Given the description of an element on the screen output the (x, y) to click on. 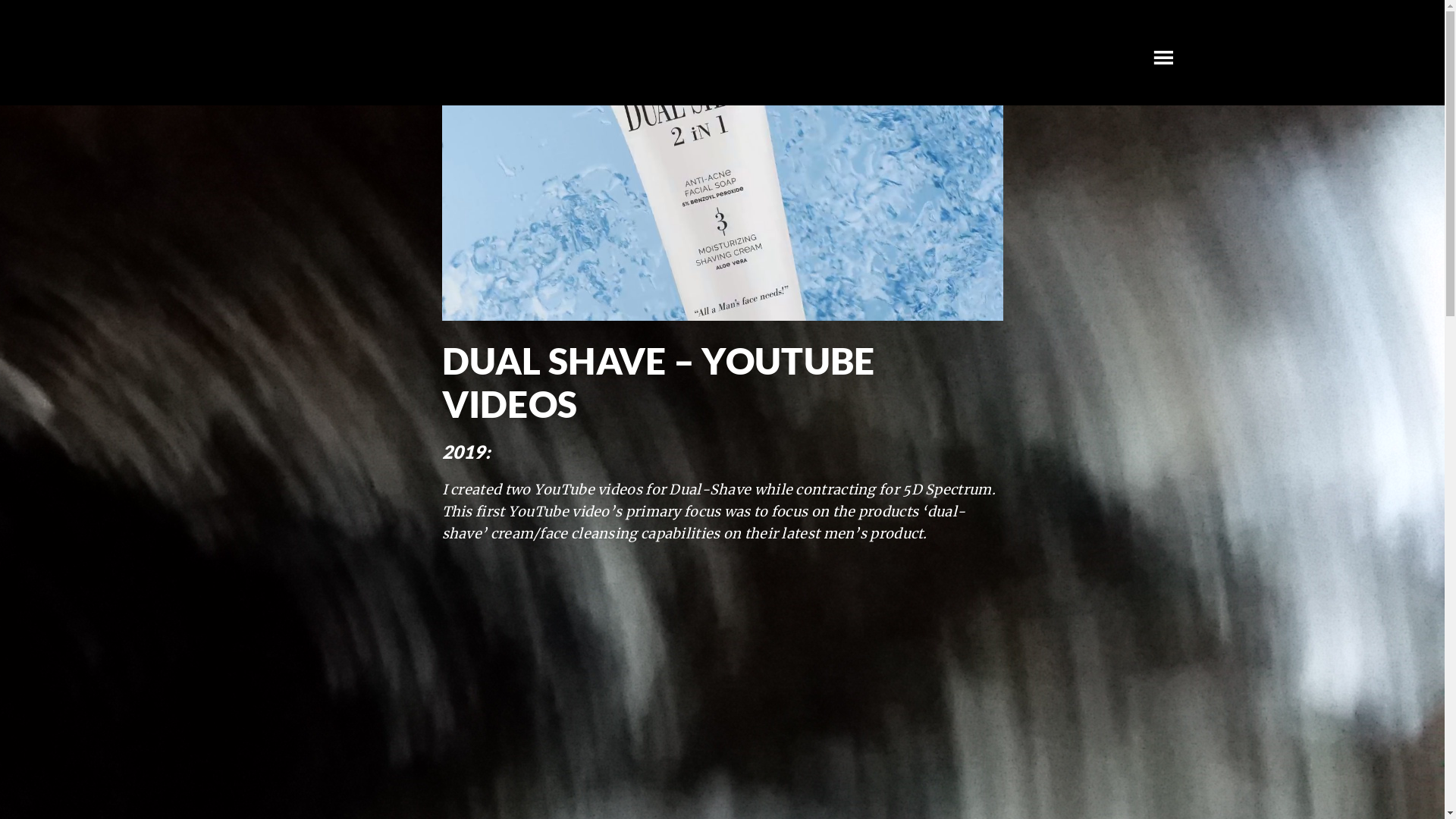
3:THIRTEEN DESIGN Element type: text (402, 52)
